Given the description of an element on the screen output the (x, y) to click on. 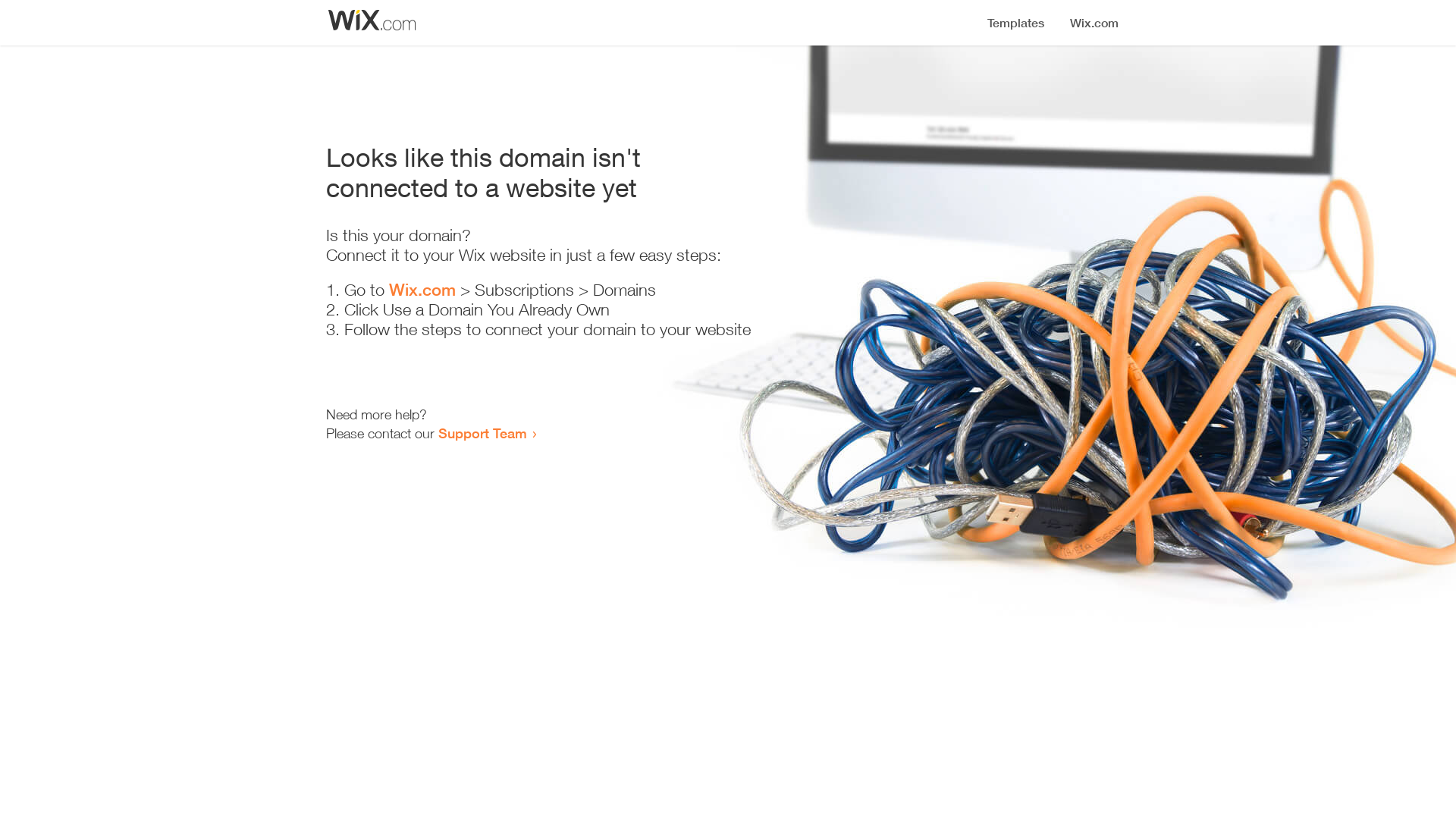
Wix.com Element type: text (422, 289)
Support Team Element type: text (482, 432)
